Given the description of an element on the screen output the (x, y) to click on. 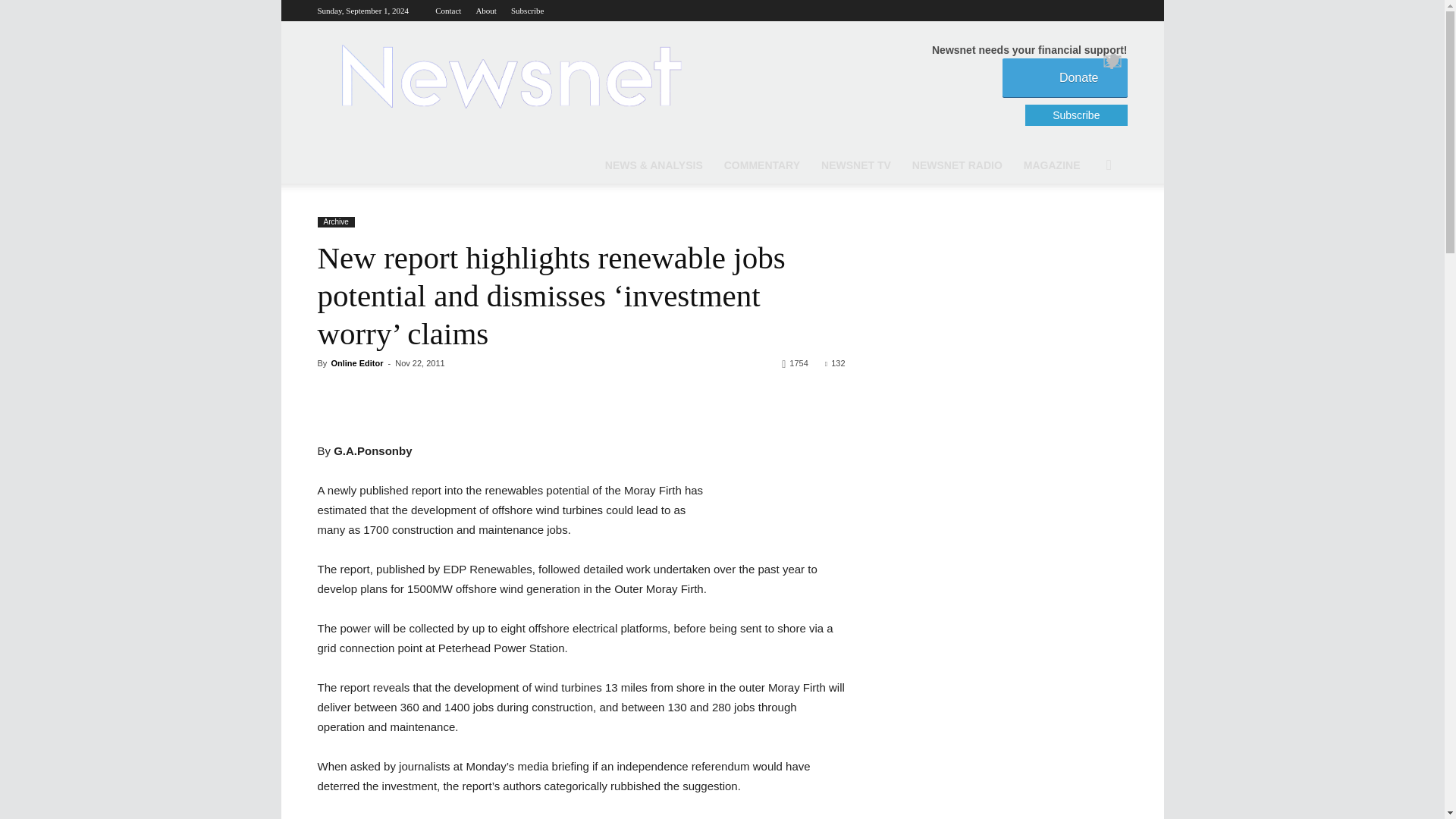
NEWSNET TV (855, 165)
About (486, 10)
132 (835, 362)
Subscribe (527, 10)
MAGAZINE (1051, 165)
Contact (448, 10)
Archive (335, 222)
NEWSNET.scot (509, 76)
Donate (1064, 77)
Search (1086, 225)
